Given the description of an element on the screen output the (x, y) to click on. 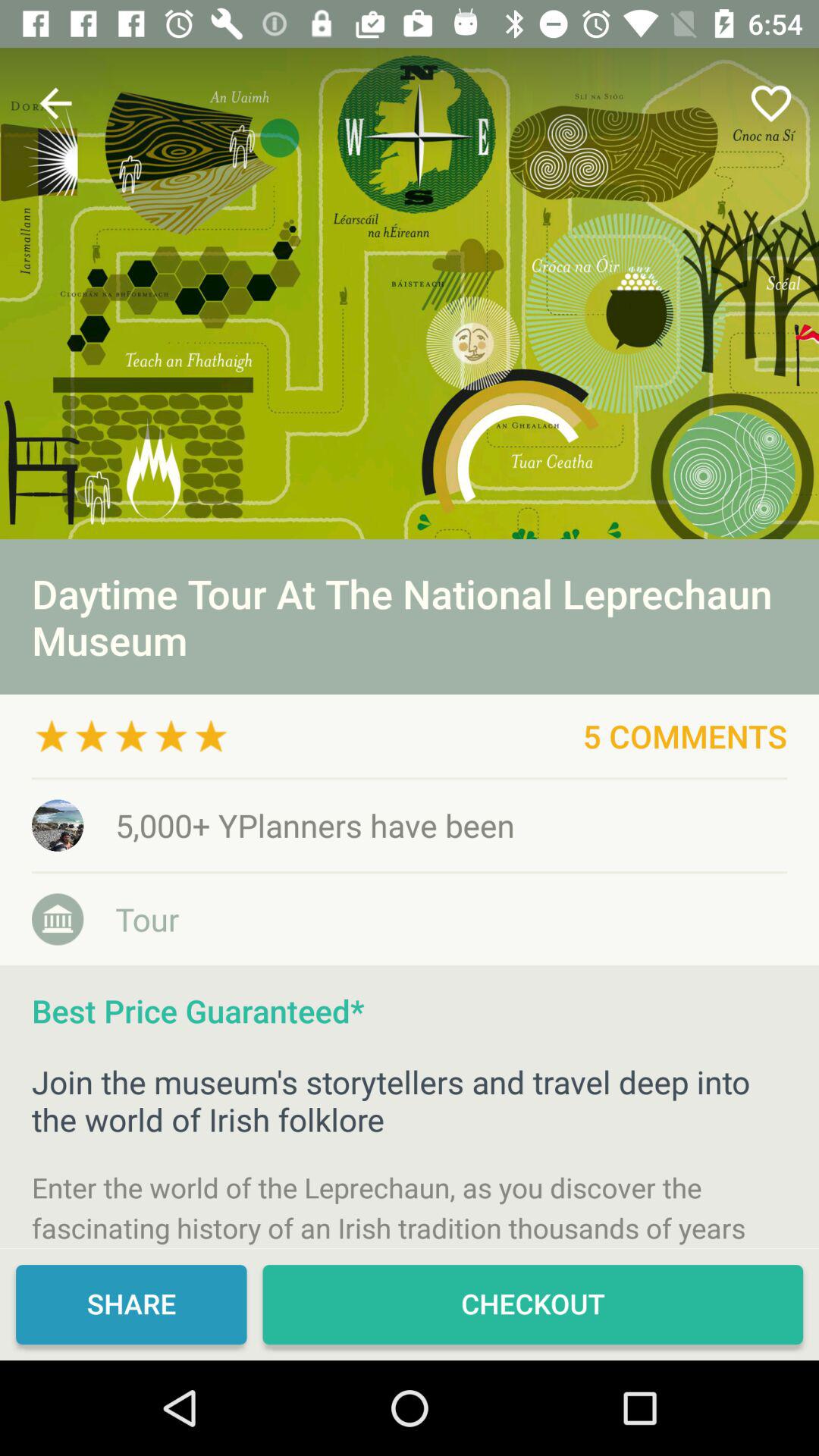
flip to share icon (130, 1304)
